Given the description of an element on the screen output the (x, y) to click on. 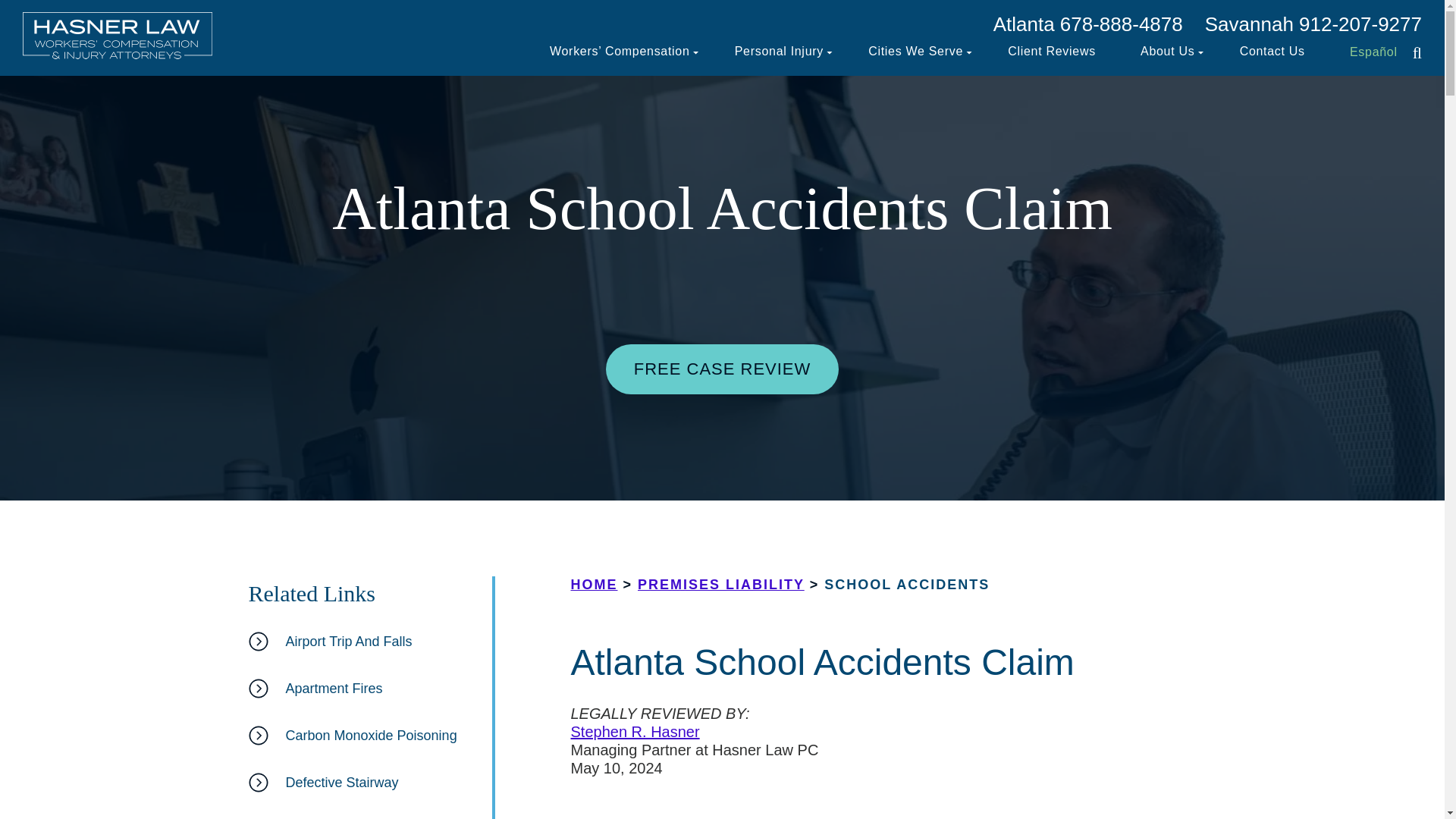
About Us (1166, 53)
Savannah 912-207-9277 (1313, 24)
Personal Injury (779, 53)
Atlanta 678-888-4878 (1087, 24)
Cities We Serve (914, 53)
Client Reviews (1051, 53)
